Given the description of an element on the screen output the (x, y) to click on. 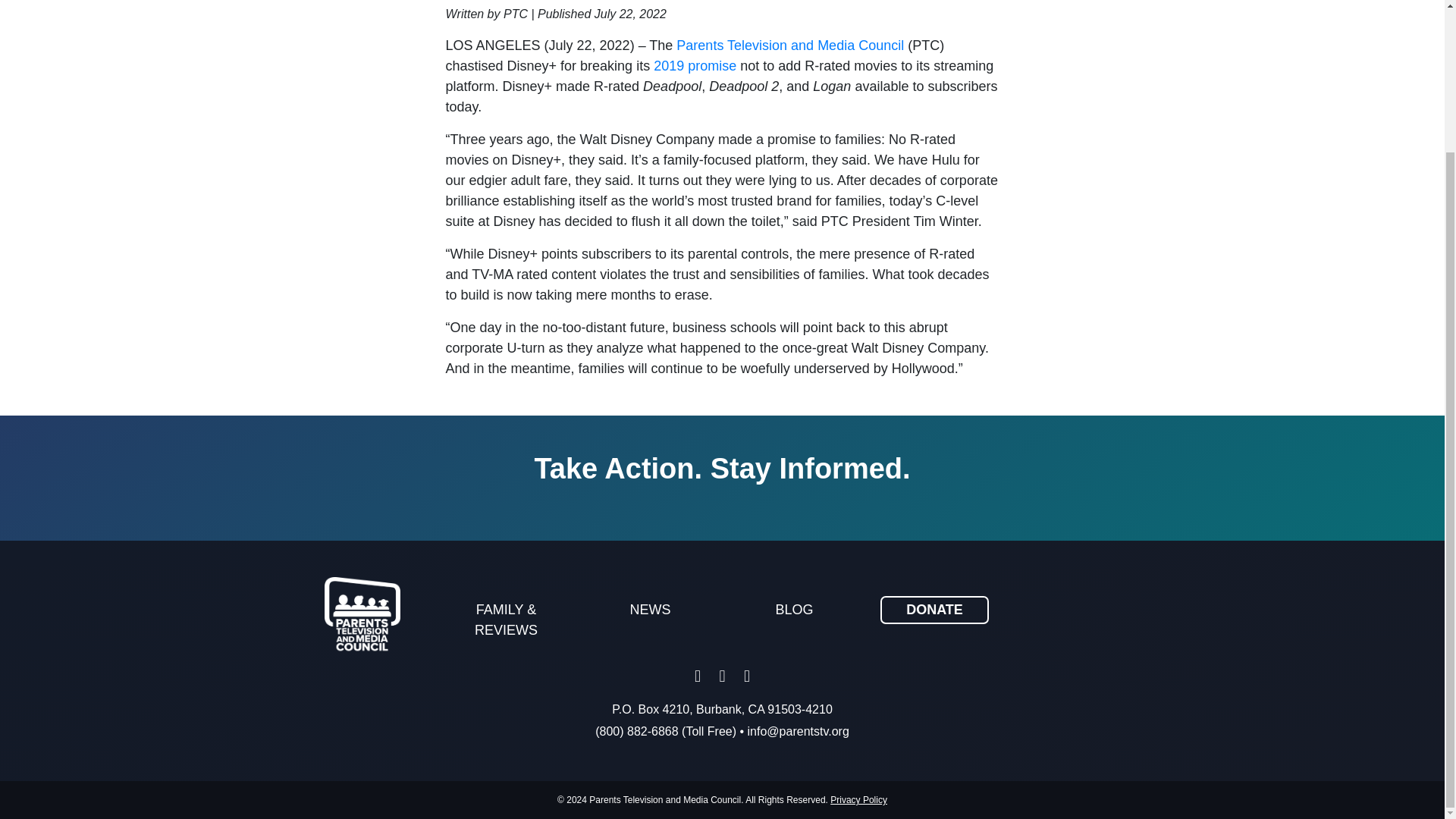
NEWS (650, 609)
DONATE (934, 610)
Parents Television and Media Council (790, 45)
2019 promise (694, 65)
BLOG (794, 609)
Privacy Policy (857, 799)
